Given the description of an element on the screen output the (x, y) to click on. 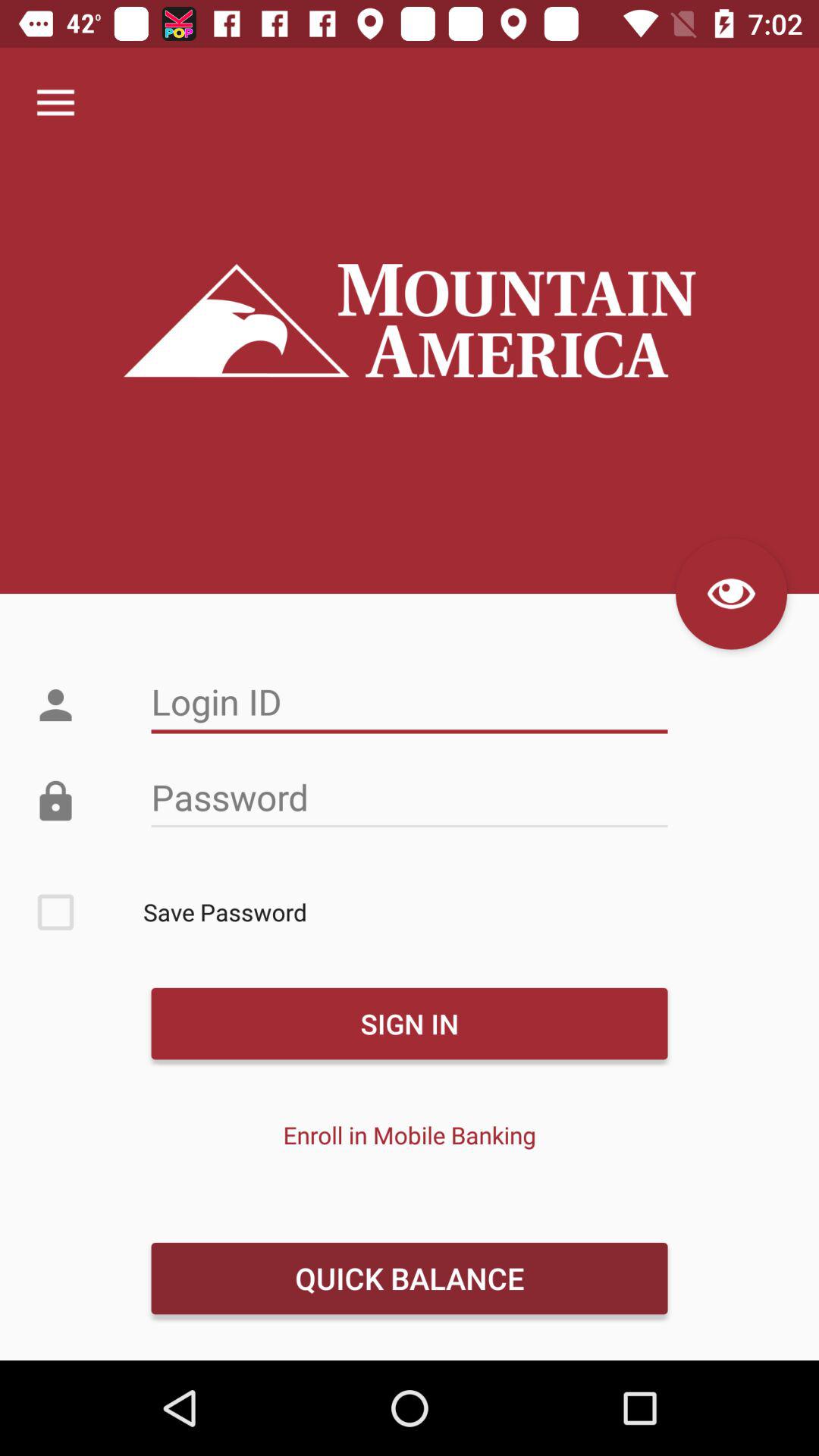
click quick balance (409, 1278)
